Given the description of an element on the screen output the (x, y) to click on. 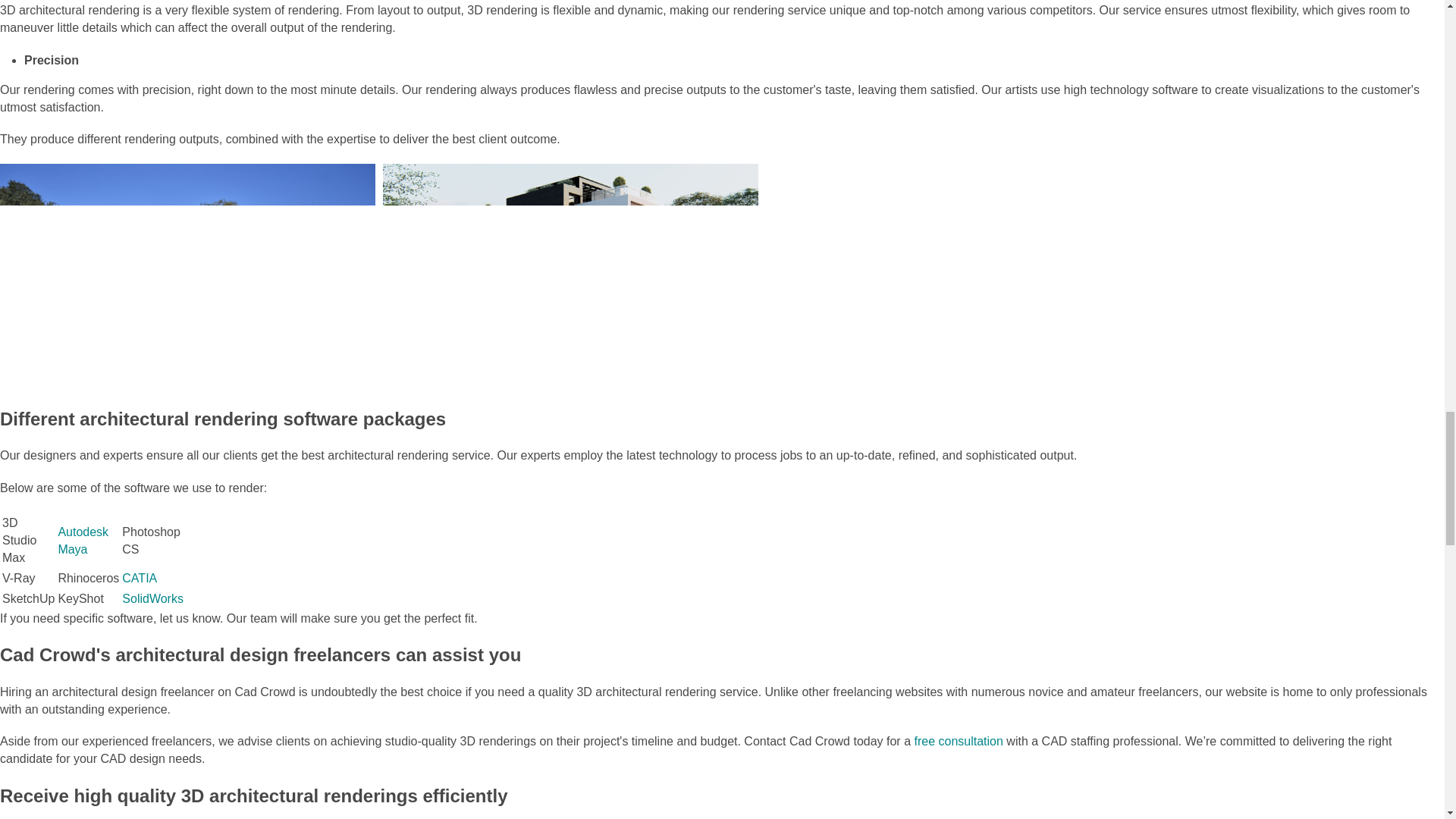
SolidWorks design services (152, 598)
Autodesk Maya (82, 540)
CATIA design services (139, 577)
